Given the description of an element on the screen output the (x, y) to click on. 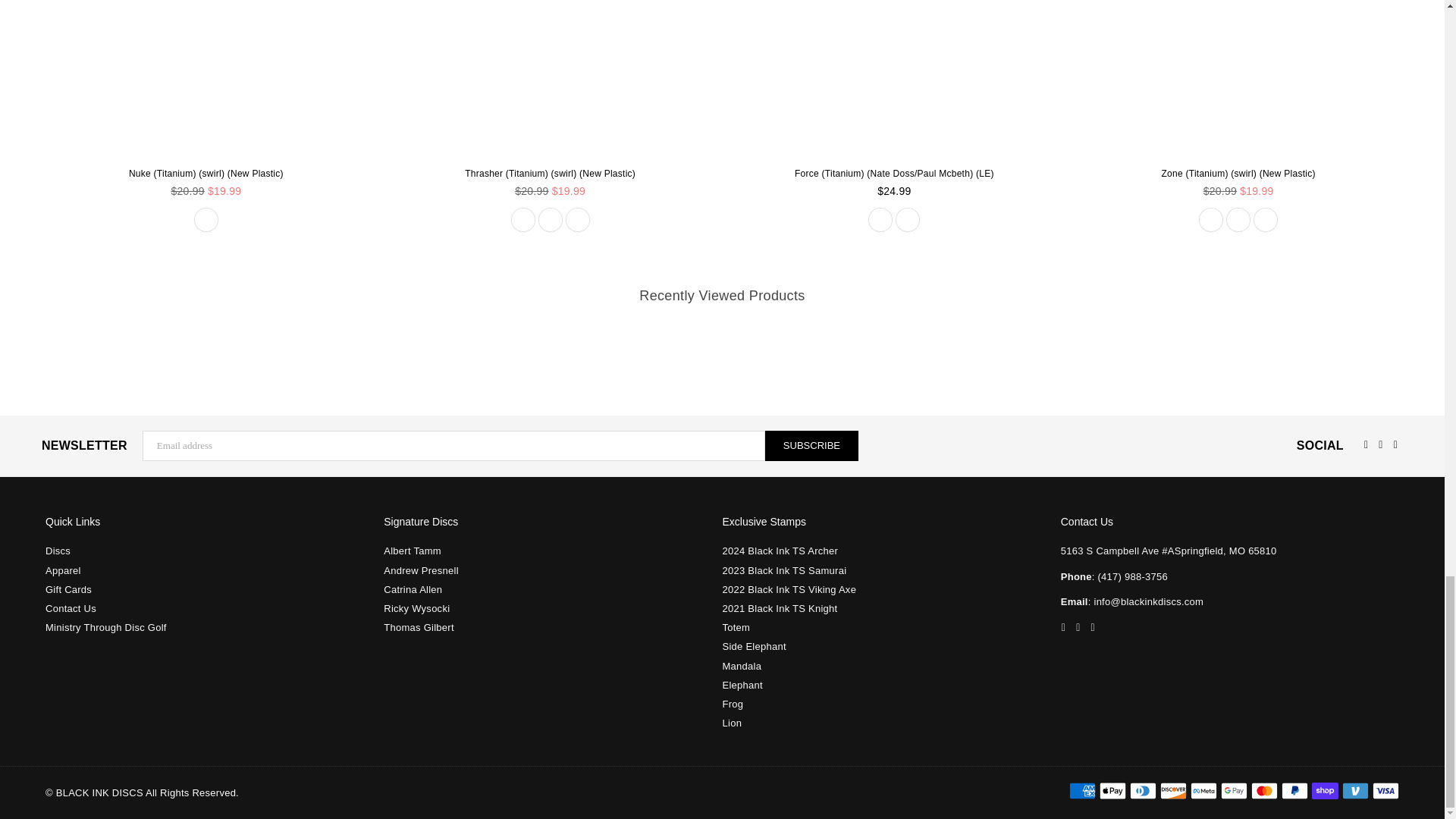
Meta Pay (1204, 791)
American Express (1082, 791)
Apple Pay (1112, 791)
Google Pay (1234, 791)
Visa (1386, 791)
Discover (1173, 791)
Shop Pay (1324, 791)
Diners Club (1142, 791)
Venmo (1355, 791)
PayPal (1294, 791)
Mastercard (1264, 791)
